Given the description of an element on the screen output the (x, y) to click on. 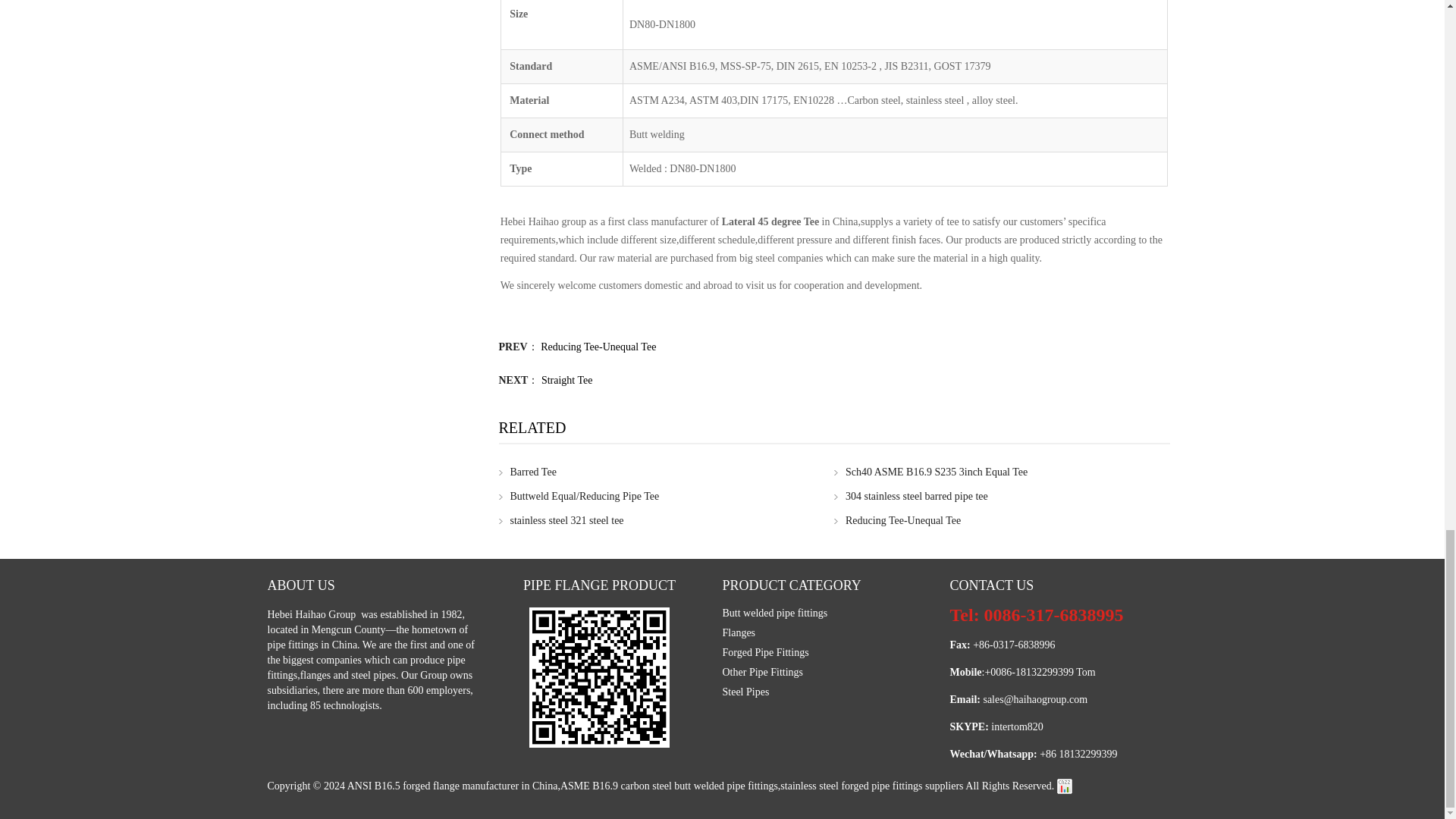
Reducing Tee-Unequal Tee (897, 520)
stainless steel 321 steel tee (561, 520)
Barred Tee (527, 471)
Sch40 ASME B16.9 S235 3inch Equal Tee (930, 471)
Sch40 ASME B16.9 S235 3inch Equal Tee (930, 471)
304 stainless steel barred pipe tee (911, 496)
Barred Tee (527, 471)
Reducing Tee-Unequal Tee (598, 346)
Straight Tee (566, 379)
